Given the description of an element on the screen output the (x, y) to click on. 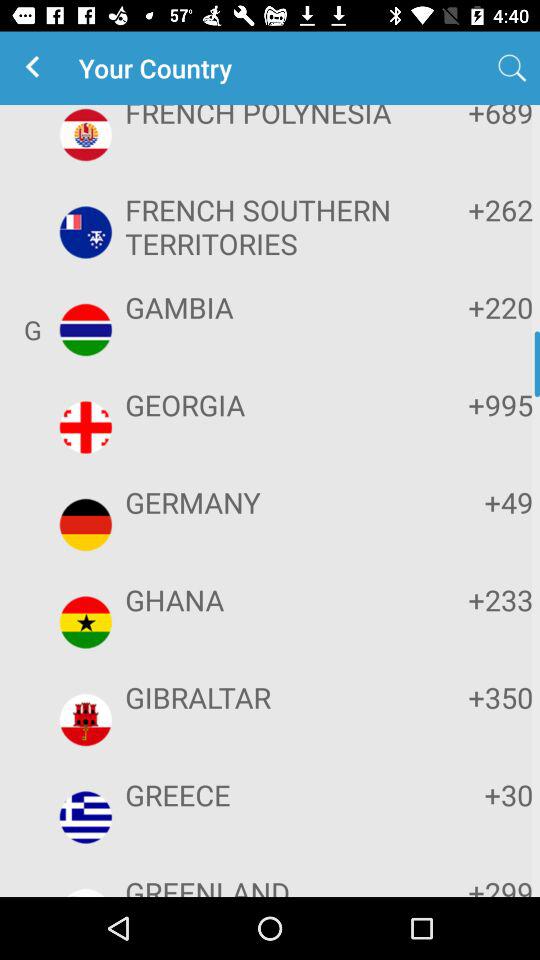
launch the +689 item (471, 118)
